Given the description of an element on the screen output the (x, y) to click on. 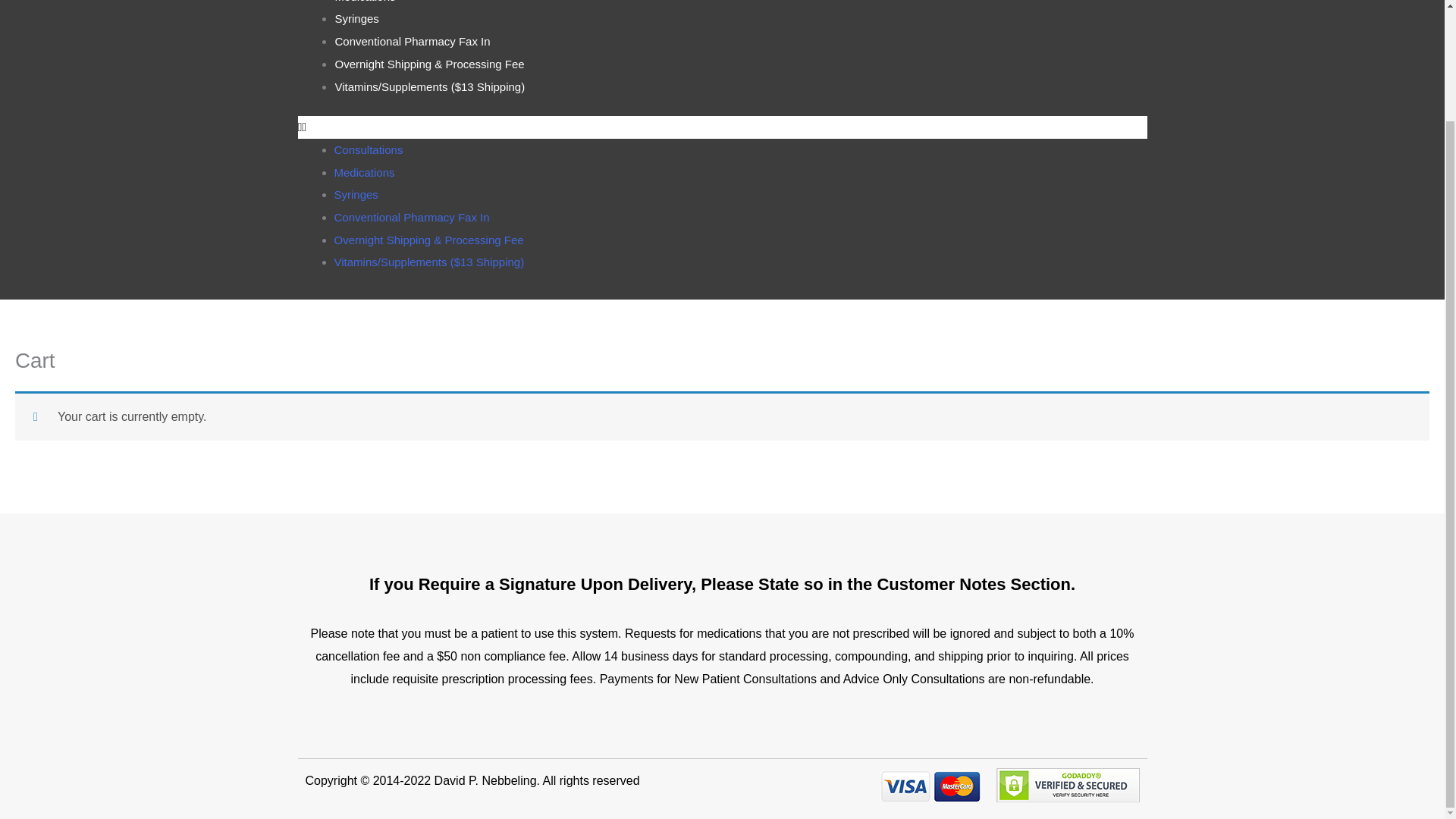
Conventional Pharmacy Fax In (411, 40)
Syringes (355, 18)
Medications (364, 2)
Conventional Pharmacy Fax In (411, 216)
Medications (363, 172)
Syringes (355, 194)
Consultations (368, 149)
